Given the description of an element on the screen output the (x, y) to click on. 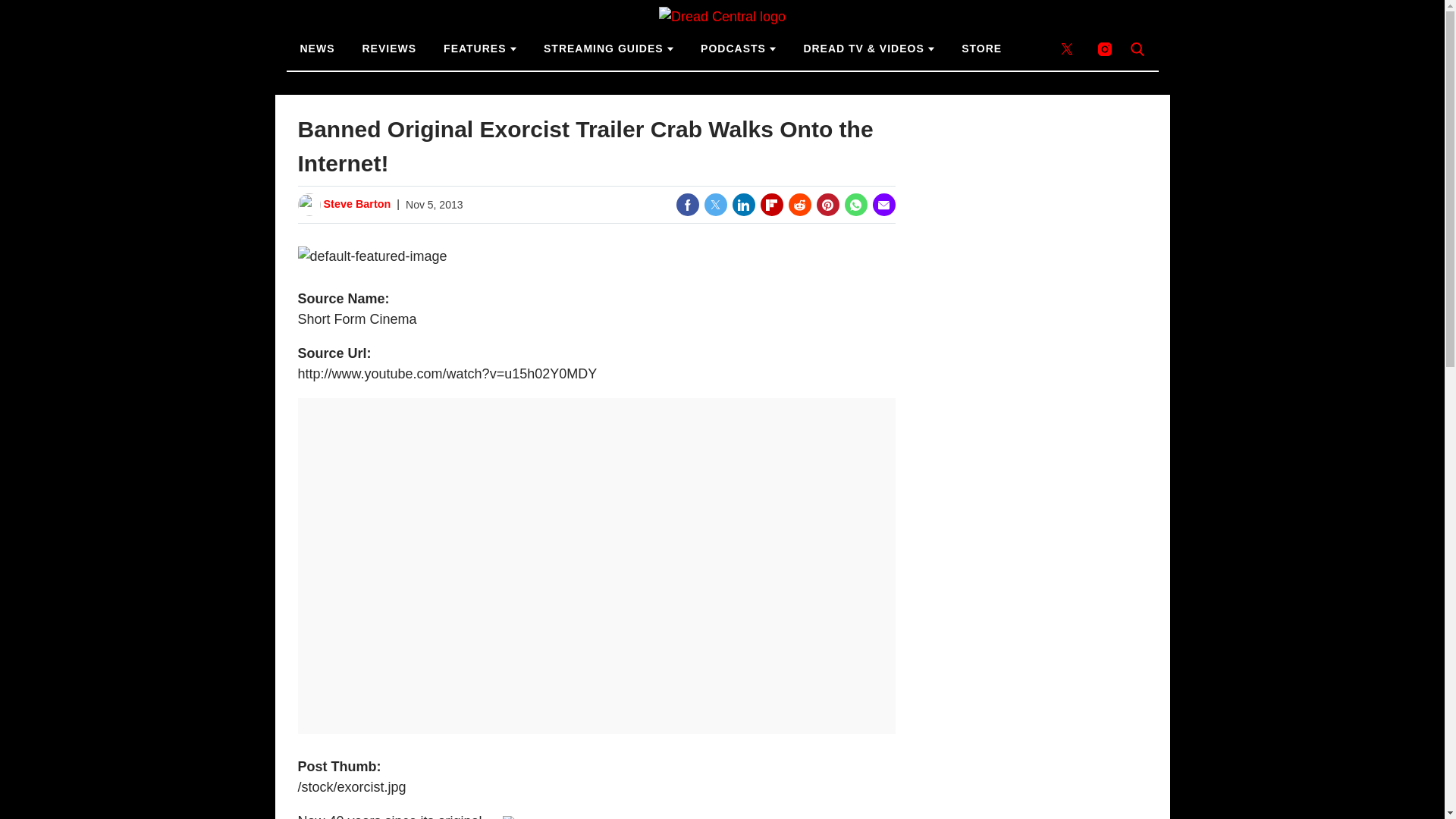
STORE (980, 48)
NEWS (317, 48)
STREAMING GUIDES (608, 48)
PODCASTS (738, 48)
FEATURES (479, 48)
Share on Reddit (799, 204)
Share on Twitter (714, 204)
Share on LinkedIn (743, 204)
Steve Barton (356, 204)
Share on Facebook (687, 204)
Share on Flipboard (771, 204)
Share on Pinterest (826, 204)
REVIEWS (389, 48)
Posts by Steve Barton (356, 204)
